Given the description of an element on the screen output the (x, y) to click on. 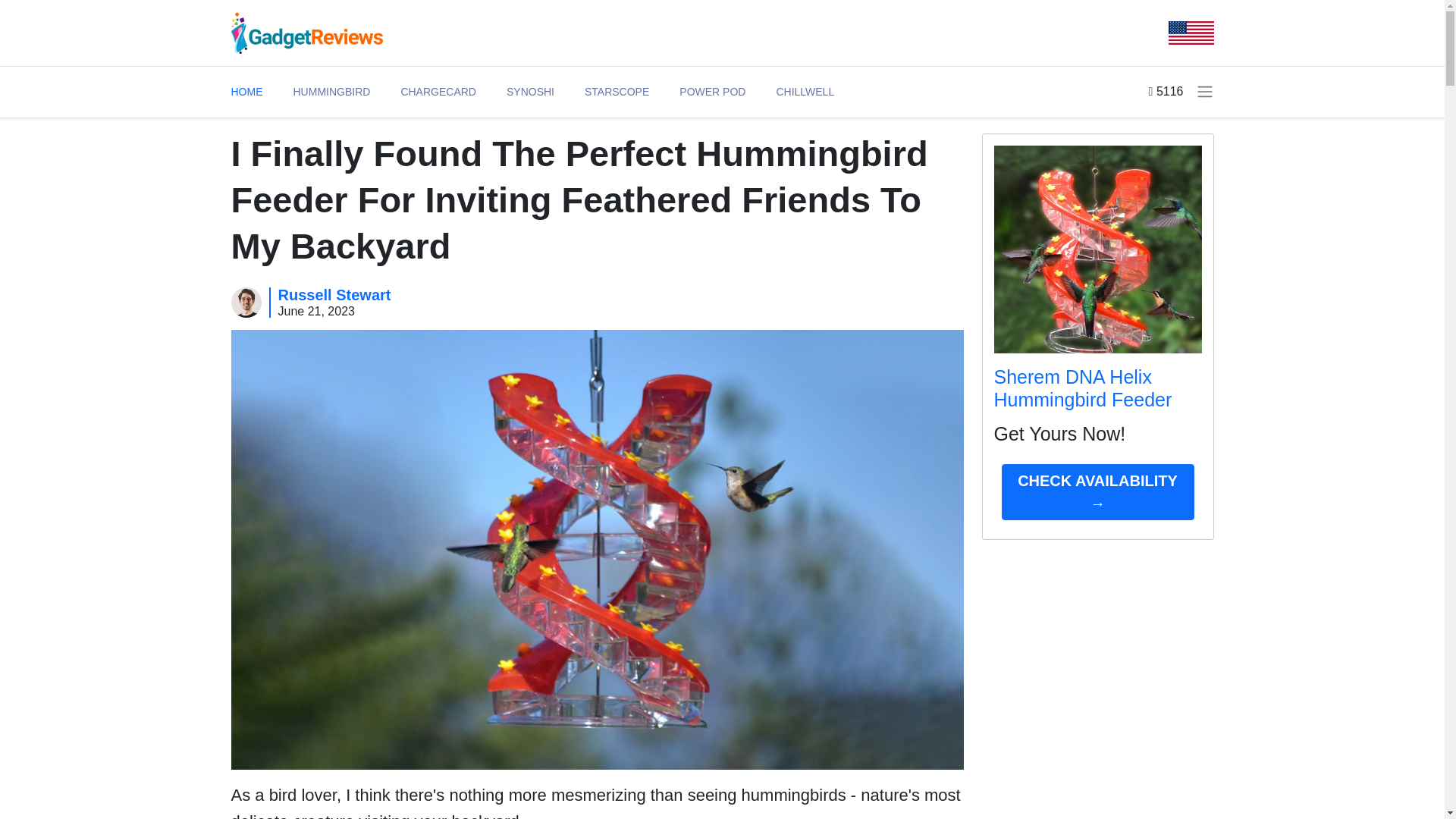
SYNOSHI (530, 91)
CHILLWELL (805, 91)
CHARGECARD (438, 91)
STARSCOPE (617, 91)
HUMMINGBIRD (330, 91)
Sherem DNA Helix Hummingbird Feeder (1082, 388)
POWER POD (712, 91)
